Given the description of an element on the screen output the (x, y) to click on. 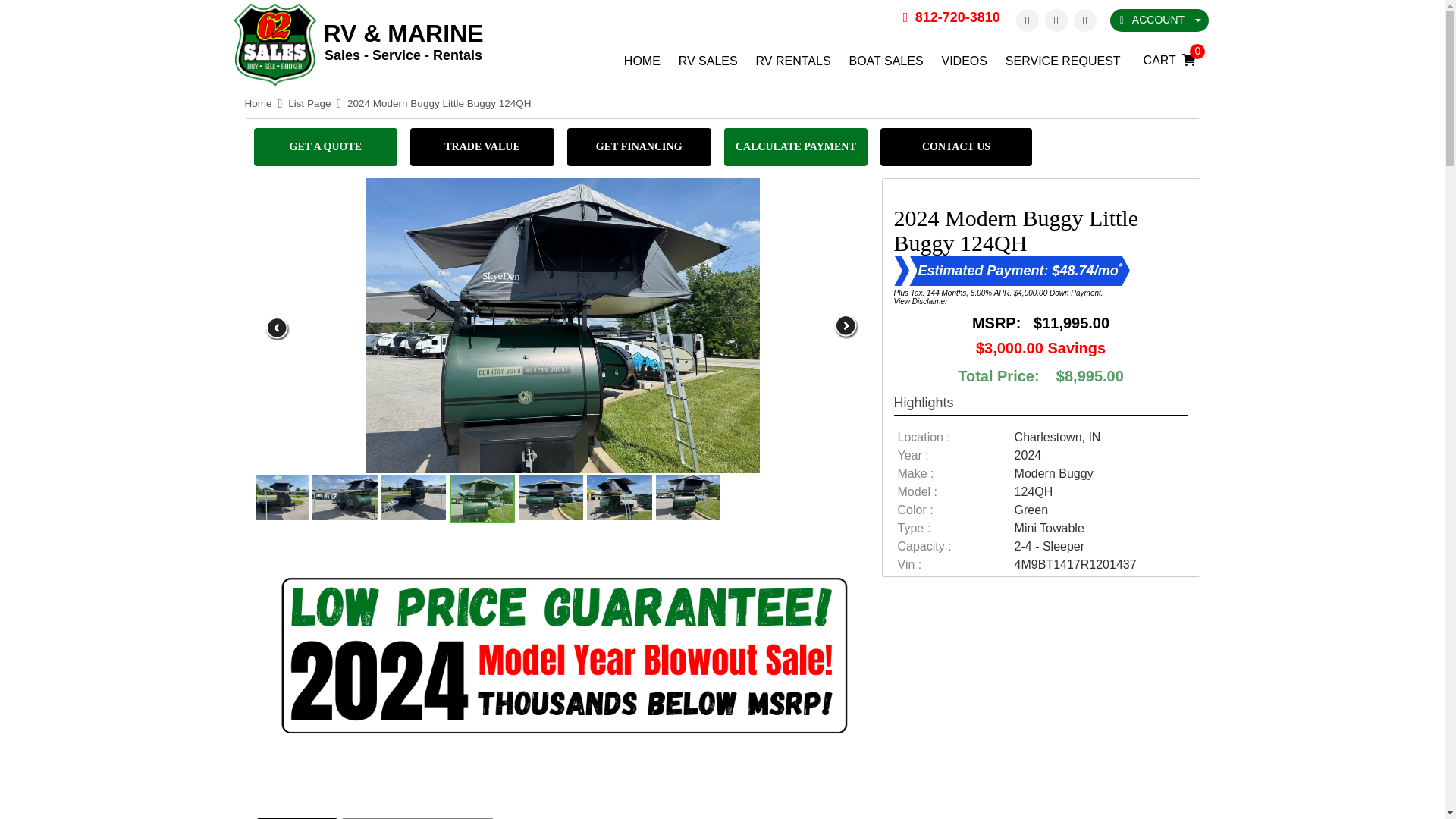
List Page (309, 102)
SERVICE REQUEST (1062, 61)
HOME (641, 61)
BOAT SALES (885, 61)
Home (257, 102)
RV RENTALS (793, 61)
GET A QUOTE (325, 146)
RV SALES (708, 61)
VIDEOS (964, 61)
  812-720-3810 (951, 17)
2024 Modern Buggy Little Buggy 124QH (439, 102)
  ACCOUNT   (1158, 20)
